Given the description of an element on the screen output the (x, y) to click on. 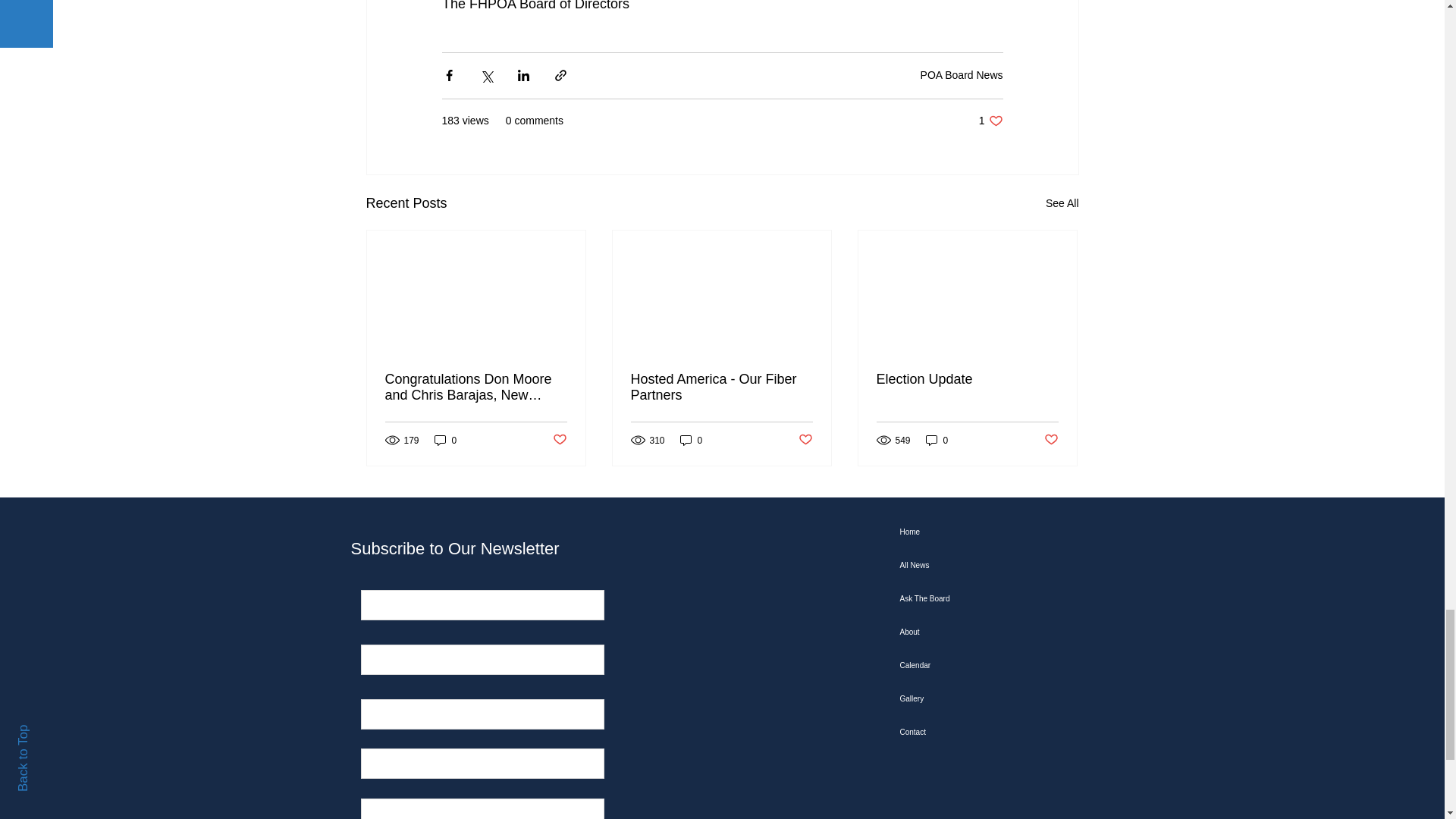
See All (1061, 203)
Post not marked as liked (558, 439)
POA Board News (961, 74)
0 (445, 440)
